Given the description of an element on the screen output the (x, y) to click on. 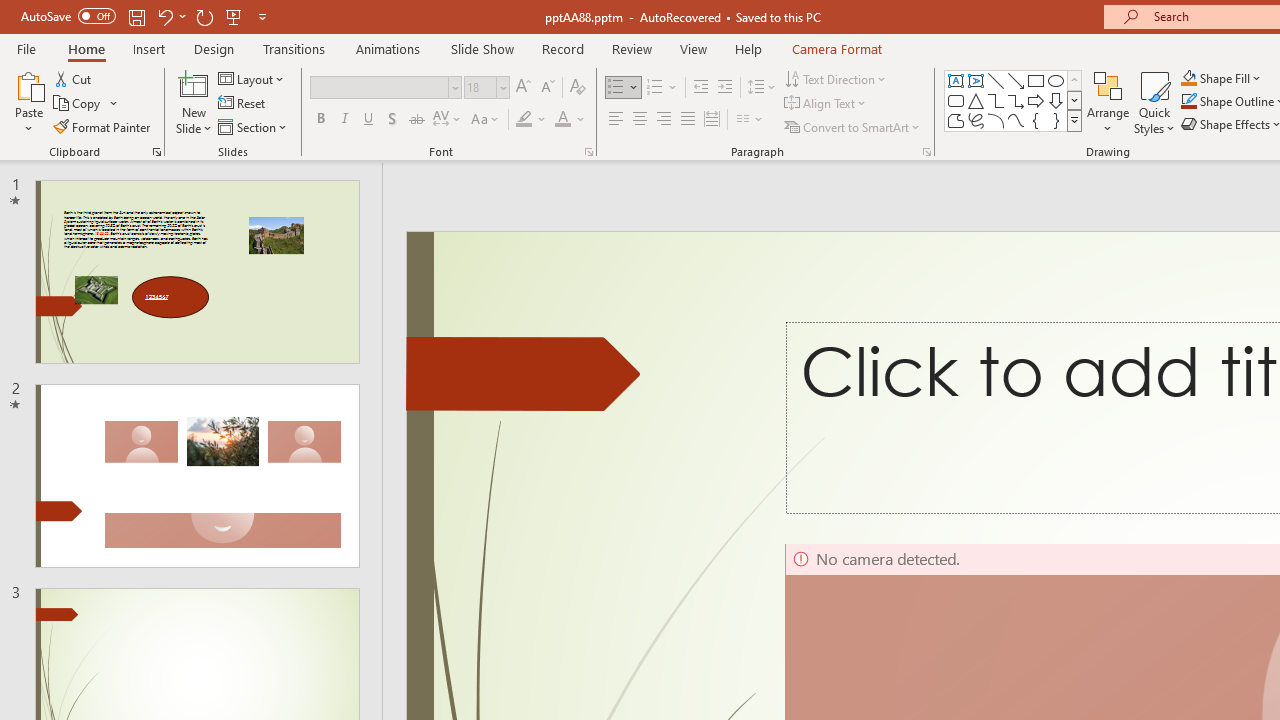
Camera Format (836, 48)
Shape Fill Aqua, Accent 2 (1188, 78)
